Given the description of an element on the screen output the (x, y) to click on. 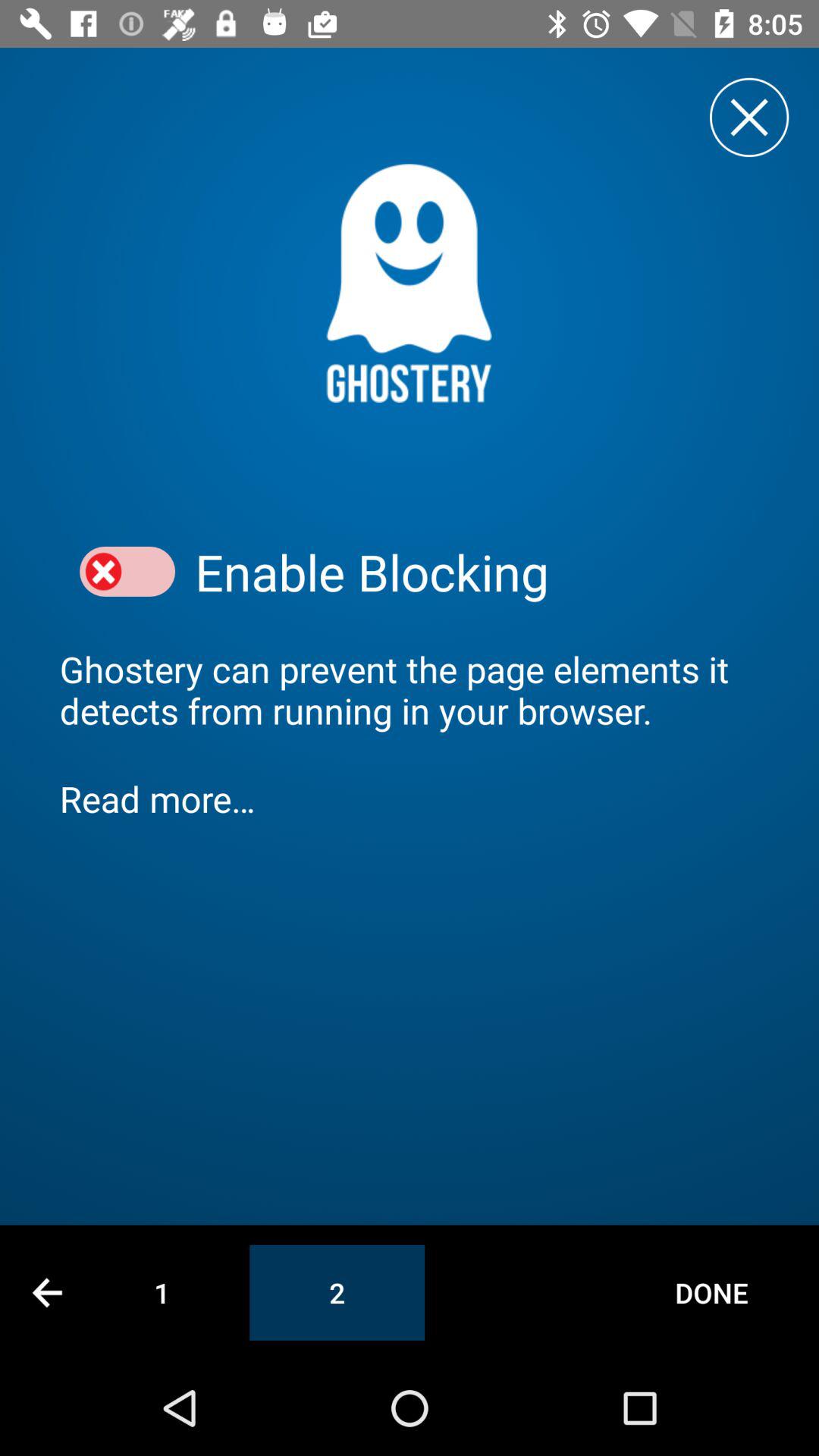
click icon to the left of 2 item (161, 1292)
